Given the description of an element on the screen output the (x, y) to click on. 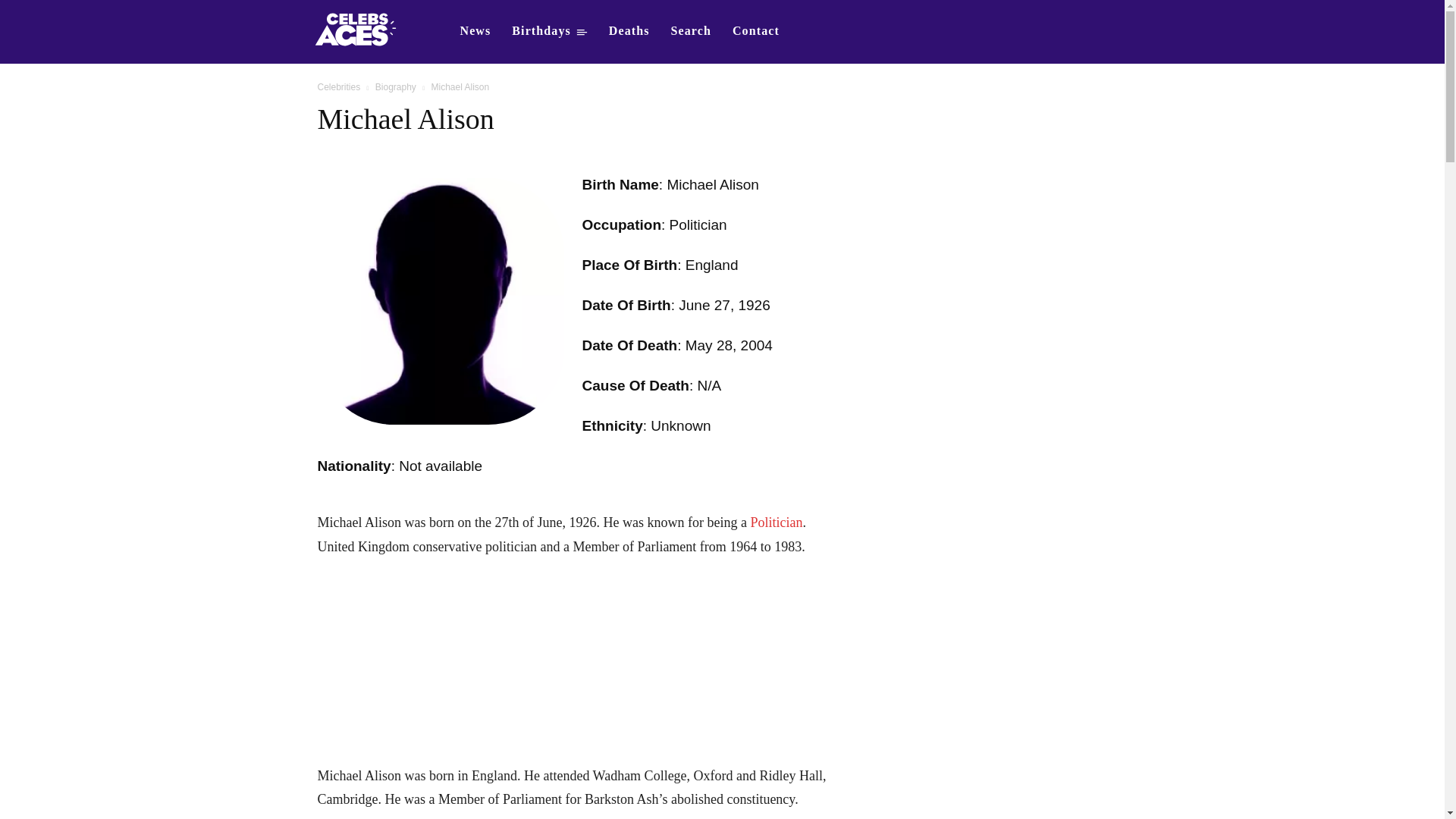
Celebrities (338, 86)
Contact (756, 31)
Politician (775, 522)
1926 (754, 304)
Celebrity Deaths 2018 (629, 31)
Celebs News (474, 31)
27 (722, 304)
Celebrity Birthdays (548, 31)
Biography (395, 86)
Search (691, 31)
News (474, 31)
Who is dating who (354, 31)
Birthdays (548, 31)
June (694, 304)
Deaths (629, 31)
